Given the description of an element on the screen output the (x, y) to click on. 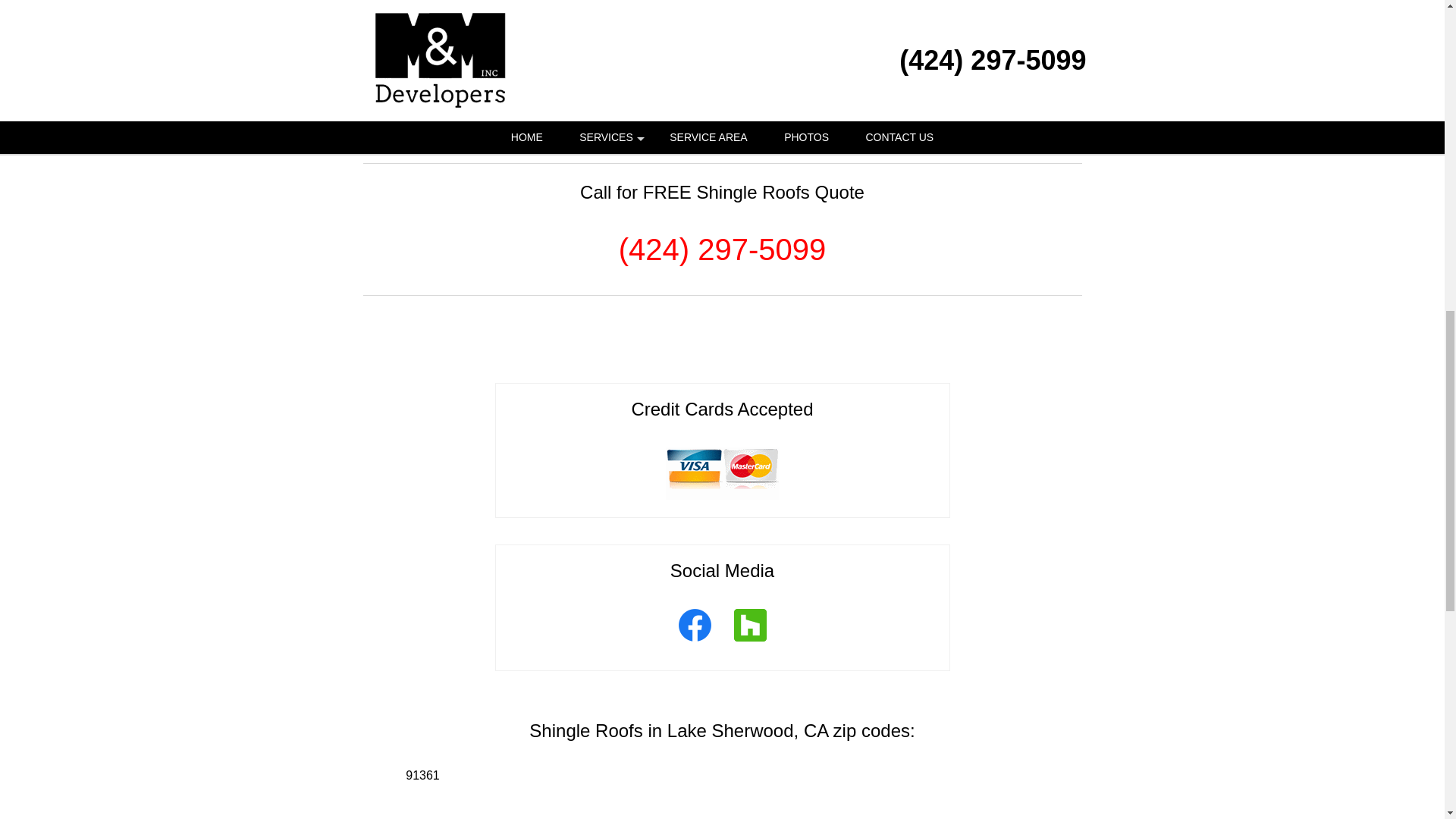
Facebook (694, 643)
Houzz (749, 643)
